Given the description of an element on the screen output the (x, y) to click on. 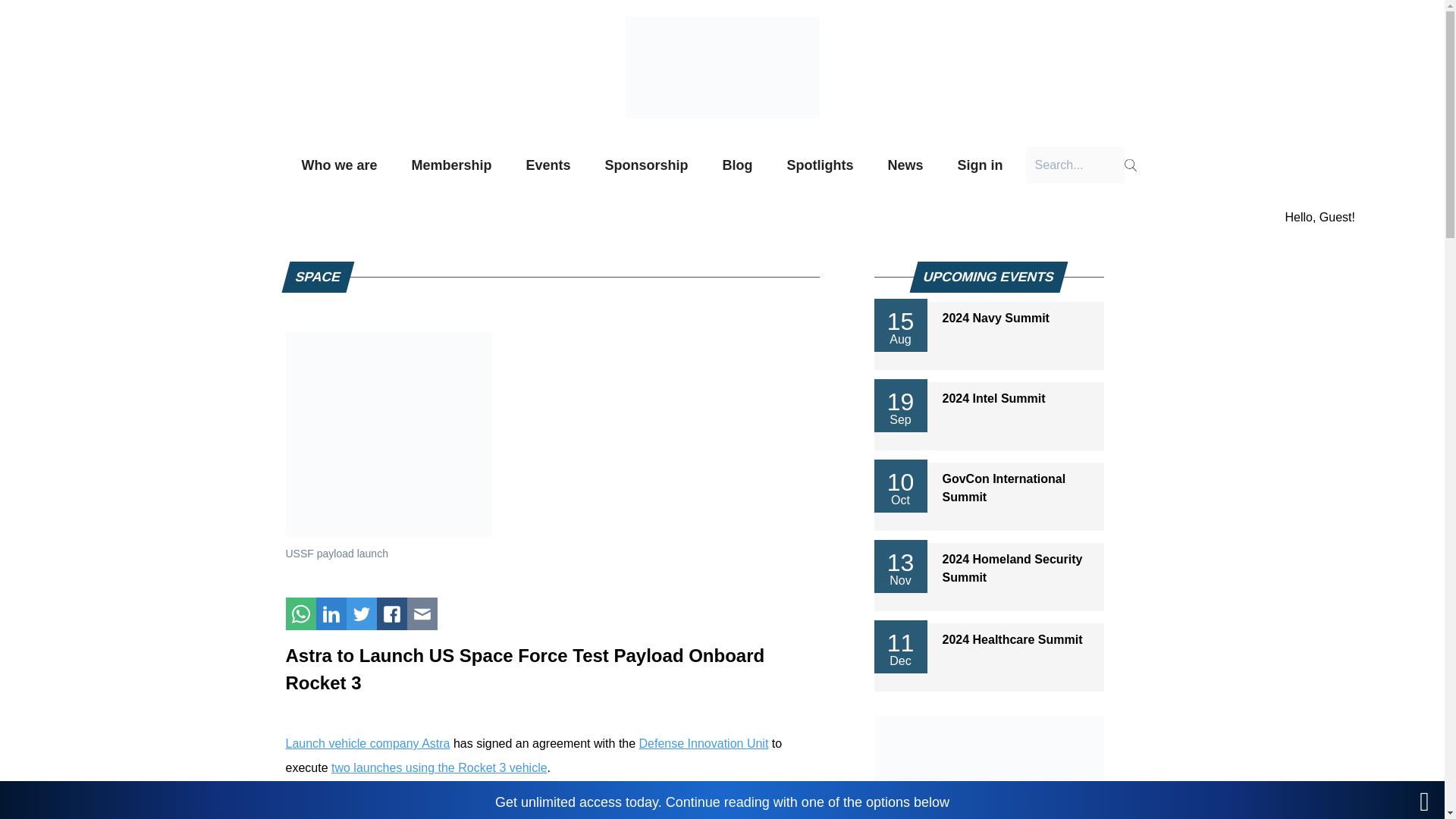
Launch vehicle company Astra (367, 743)
two launches using the Rocket 3 vehicle (439, 767)
Membership (450, 164)
Spotlights (820, 164)
Sponsorship (647, 164)
Defense Innovation Unit (703, 743)
News (905, 164)
Events (546, 164)
Blog (737, 164)
Sign in (980, 164)
